Given the description of an element on the screen output the (x, y) to click on. 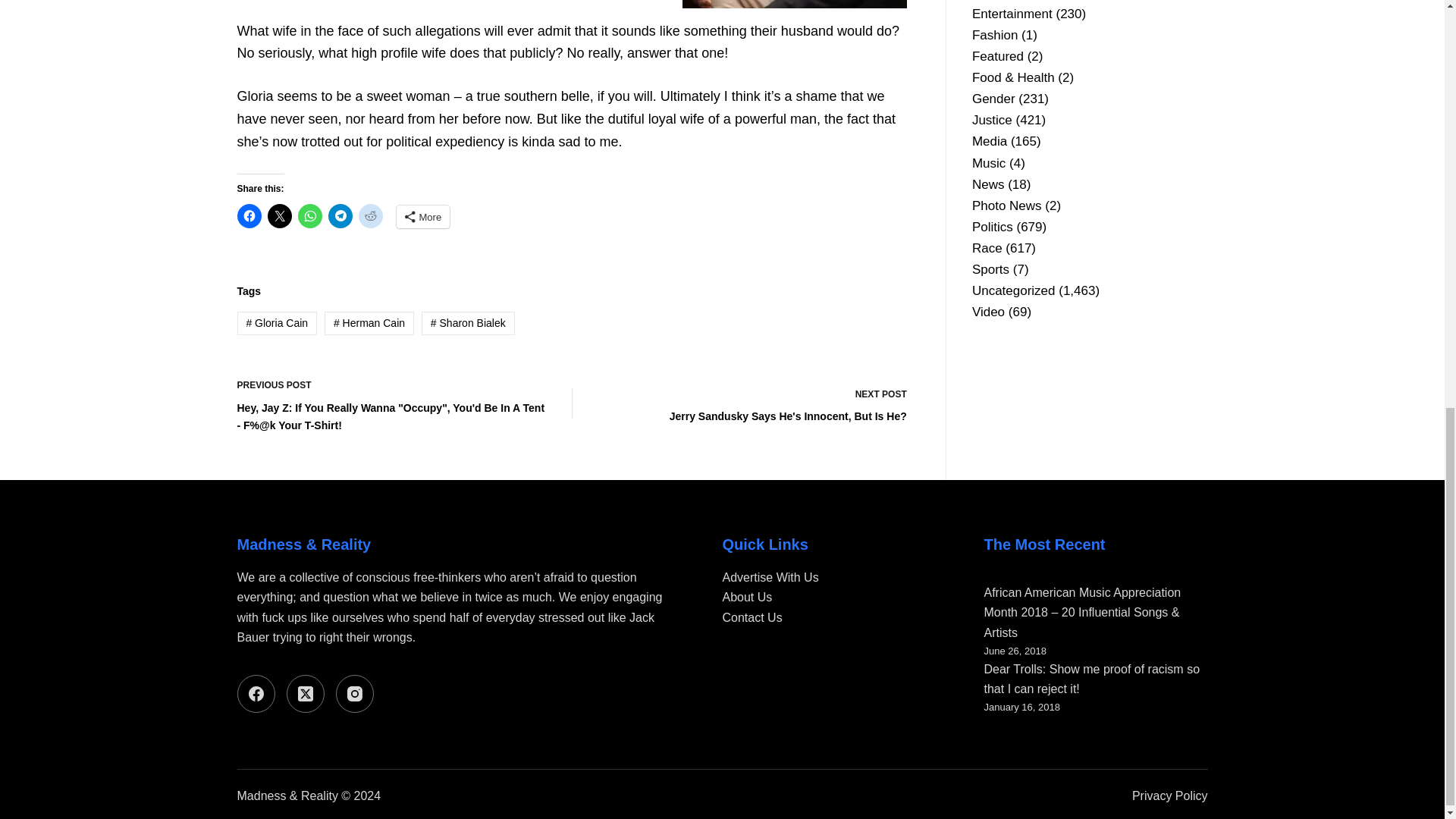
Click to share on X (751, 403)
Click to share on Telegram (278, 215)
Click to share on Reddit (339, 215)
Click to share on Facebook (369, 215)
More (247, 215)
Click to share on WhatsApp (422, 216)
